Given the description of an element on the screen output the (x, y) to click on. 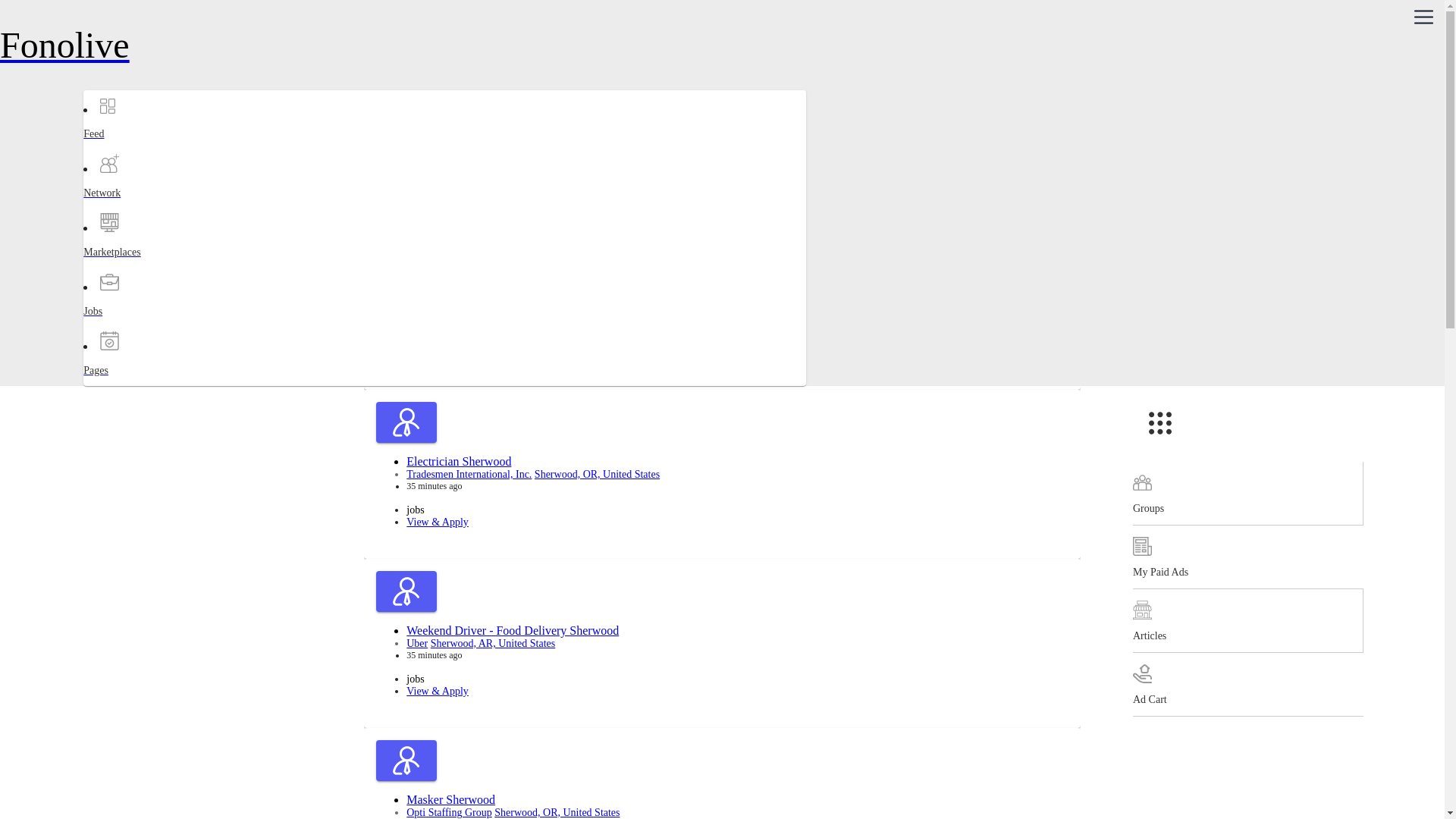
Sherwood, OR, United States (596, 473)
My Paid Ads (1247, 556)
Masker Sherwood (450, 799)
Weekend Driver - Food Delivery Sherwood (512, 630)
Sherwood, AR, United States (493, 643)
Ad Cart (1247, 684)
Articles (1247, 620)
Marketplaces (142, 265)
Opti Staffing Group (449, 812)
Electrician Sherwood (458, 461)
Uber (417, 643)
Pages (142, 384)
Feed (142, 147)
Sherwood, OR, United States (557, 812)
Sales Associate Sherwood (470, 291)
